Given the description of an element on the screen output the (x, y) to click on. 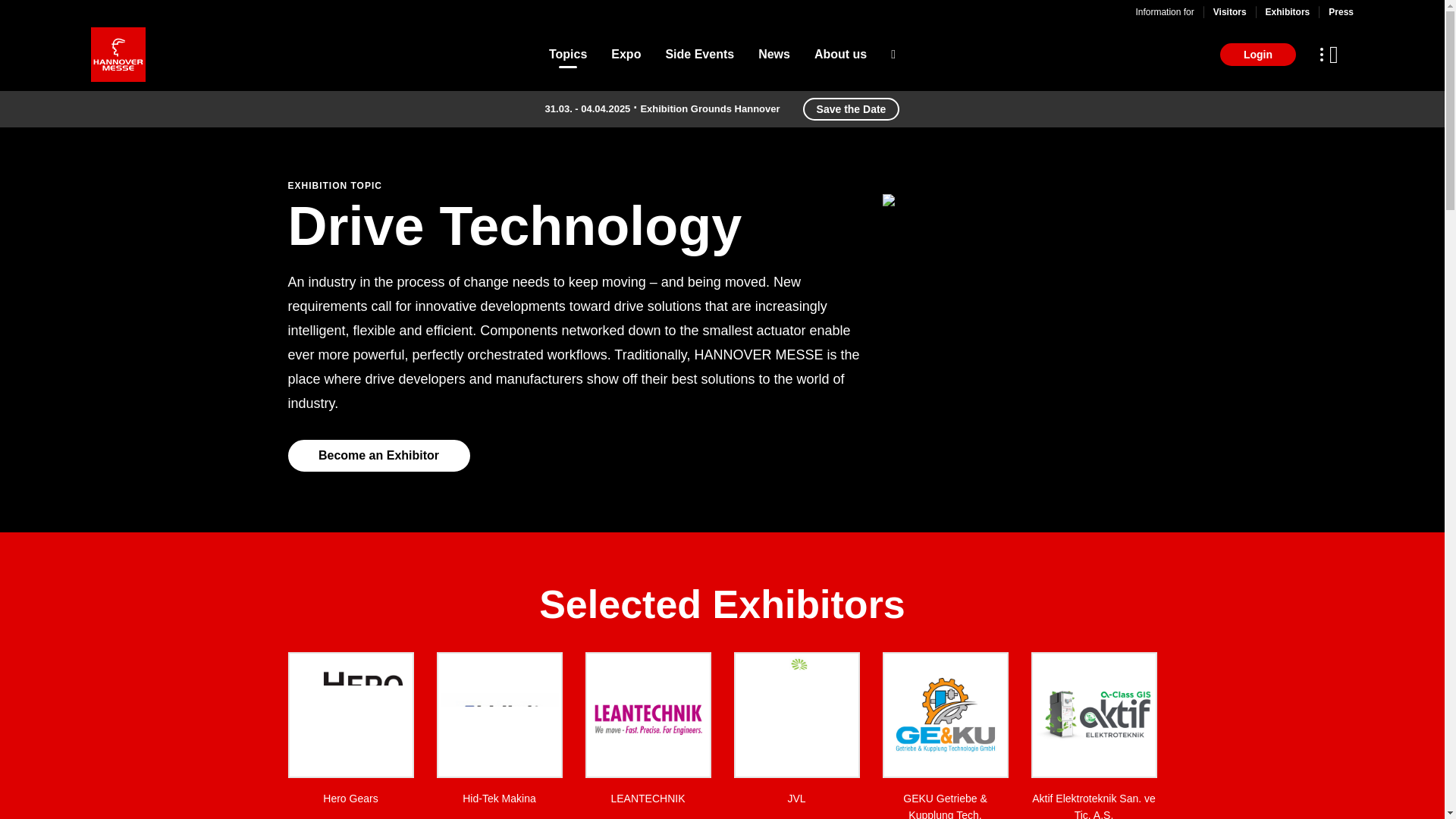
Exhibitors (1287, 11)
Press (1340, 11)
Topics (567, 54)
Side Events (699, 54)
Visitors (1229, 11)
Become an Exhibitor (379, 455)
News (774, 54)
Login (1257, 54)
Expo (625, 54)
Save the Date (851, 108)
About us (839, 54)
